Given the description of an element on the screen output the (x, y) to click on. 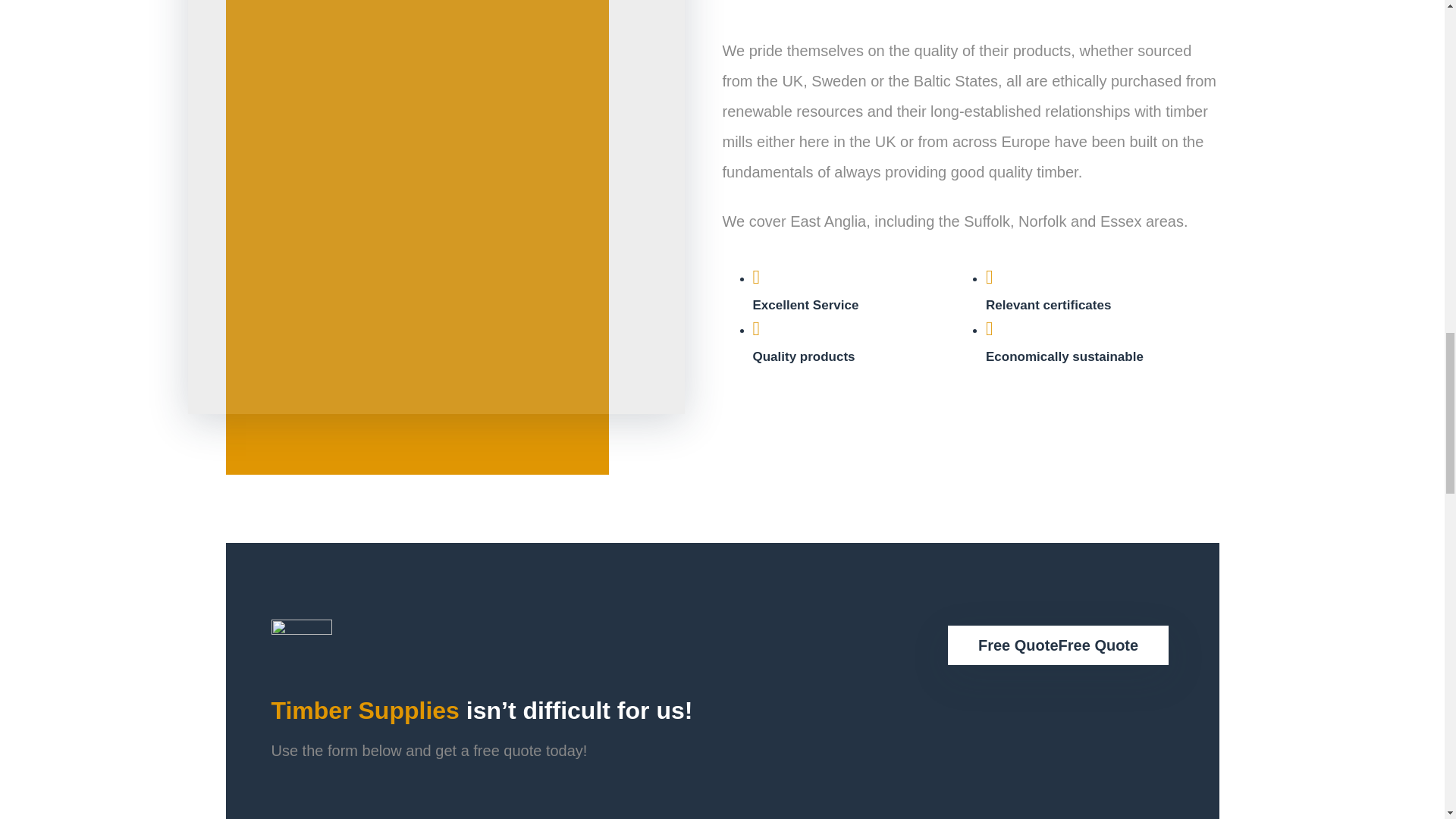
safety-icon (300, 644)
Contact (1058, 645)
